Given the description of an element on the screen output the (x, y) to click on. 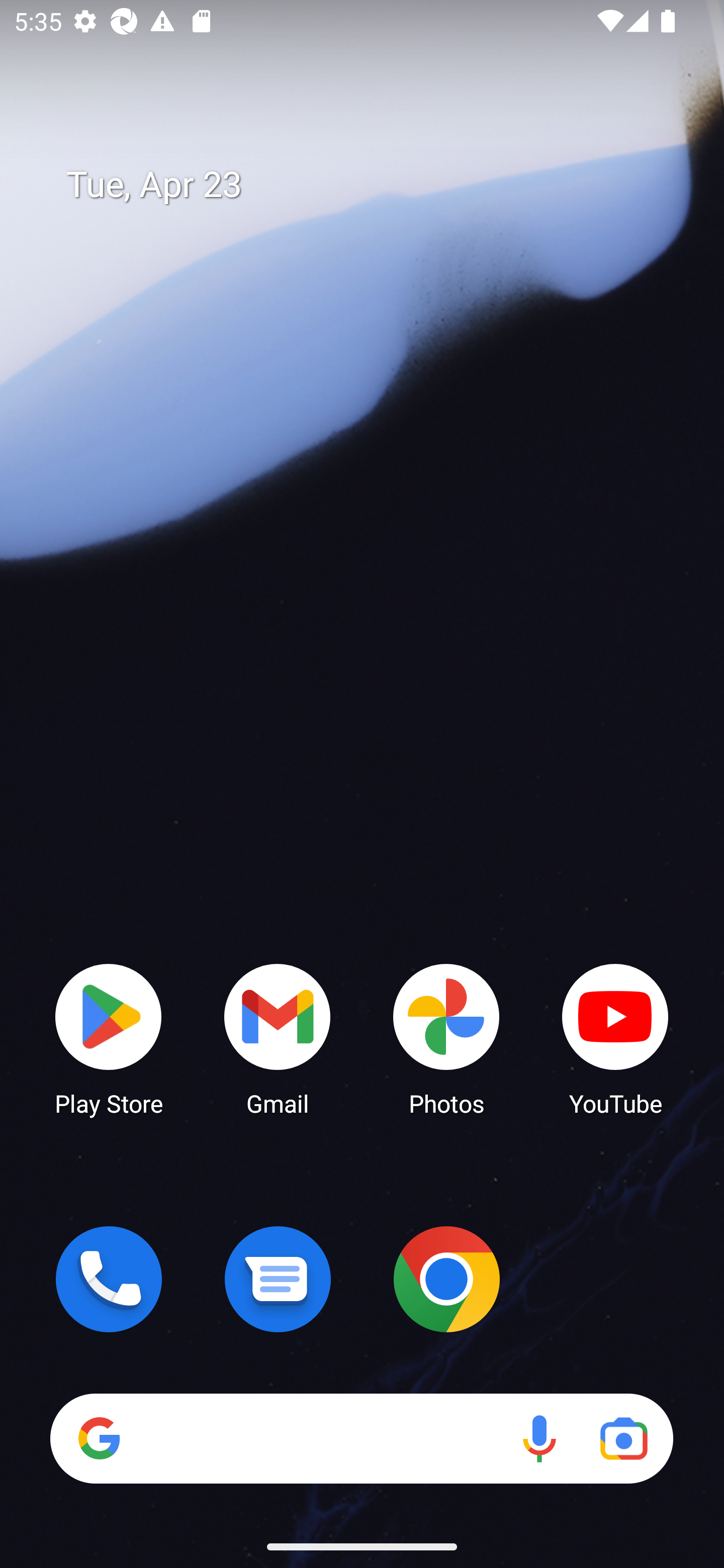
Tue, Apr 23 (375, 184)
Play Store (108, 1038)
Gmail (277, 1038)
Photos (445, 1038)
YouTube (615, 1038)
Phone (108, 1279)
Messages (277, 1279)
Chrome (446, 1279)
Search Voice search Google Lens (361, 1438)
Voice search (539, 1438)
Google Lens (623, 1438)
